Given the description of an element on the screen output the (x, y) to click on. 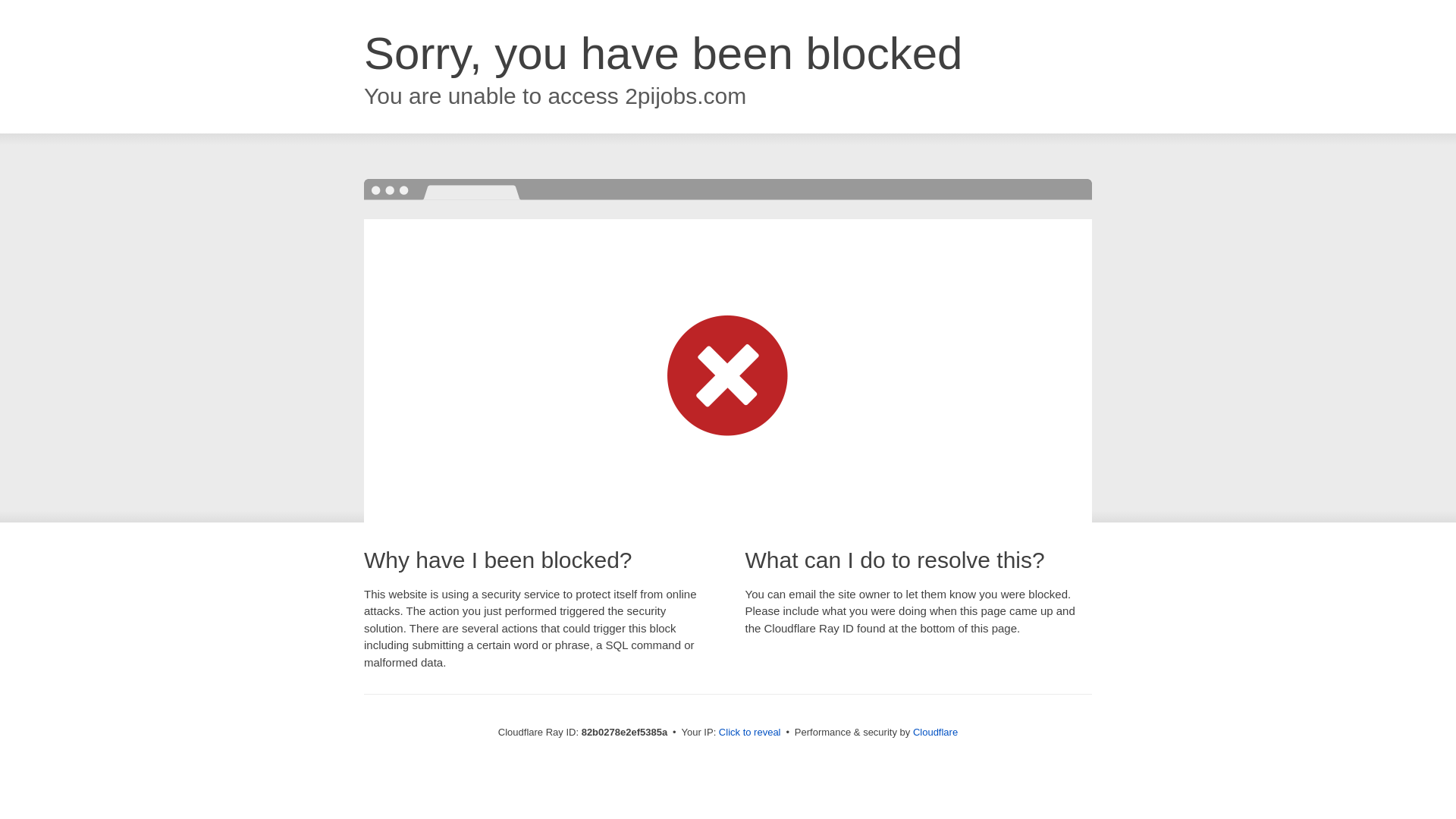
Cloudflare Element type: text (935, 731)
Click to reveal Element type: text (749, 732)
